Given the description of an element on the screen output the (x, y) to click on. 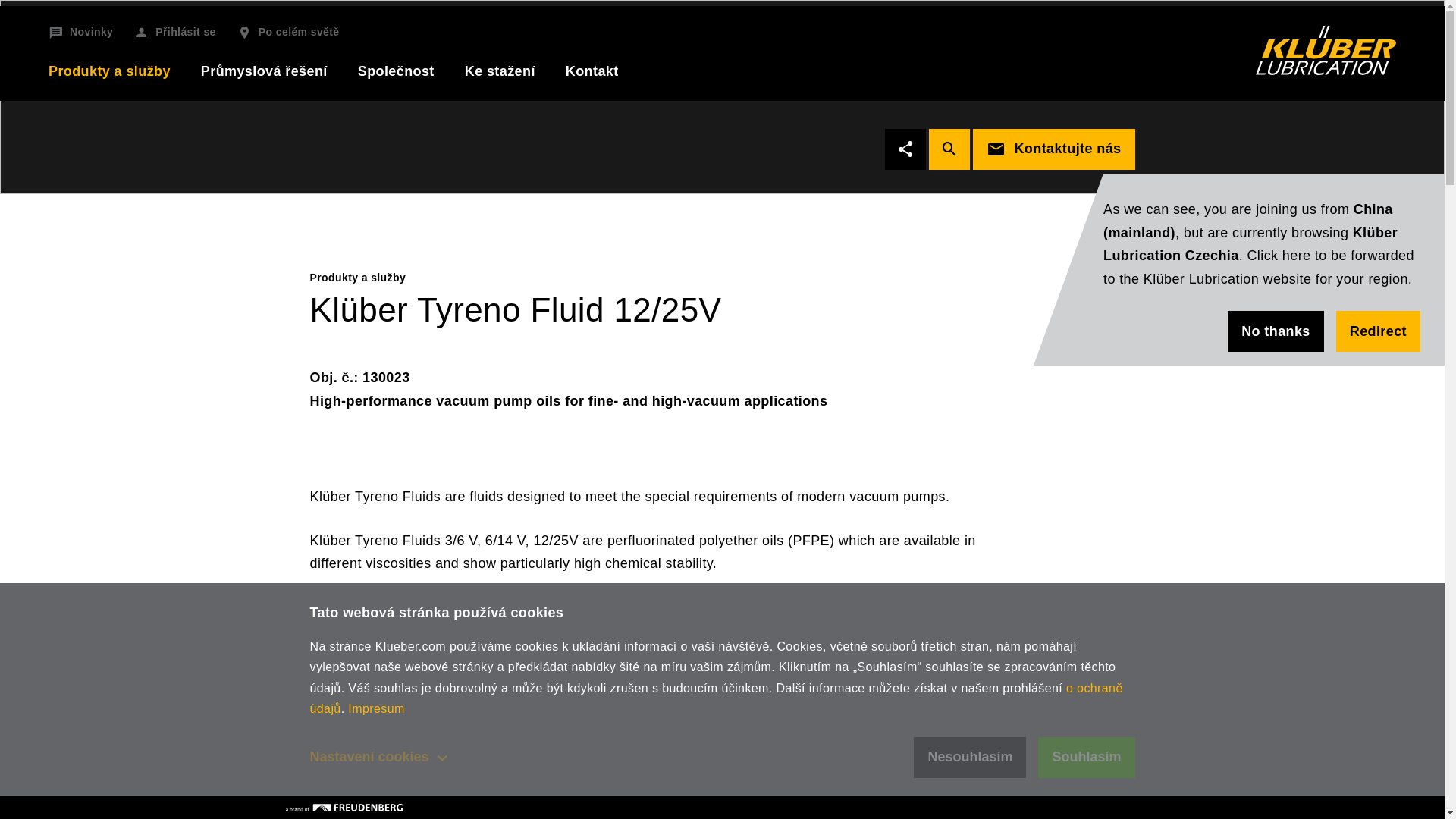
Impresum (375, 707)
